Given the description of an element on the screen output the (x, y) to click on. 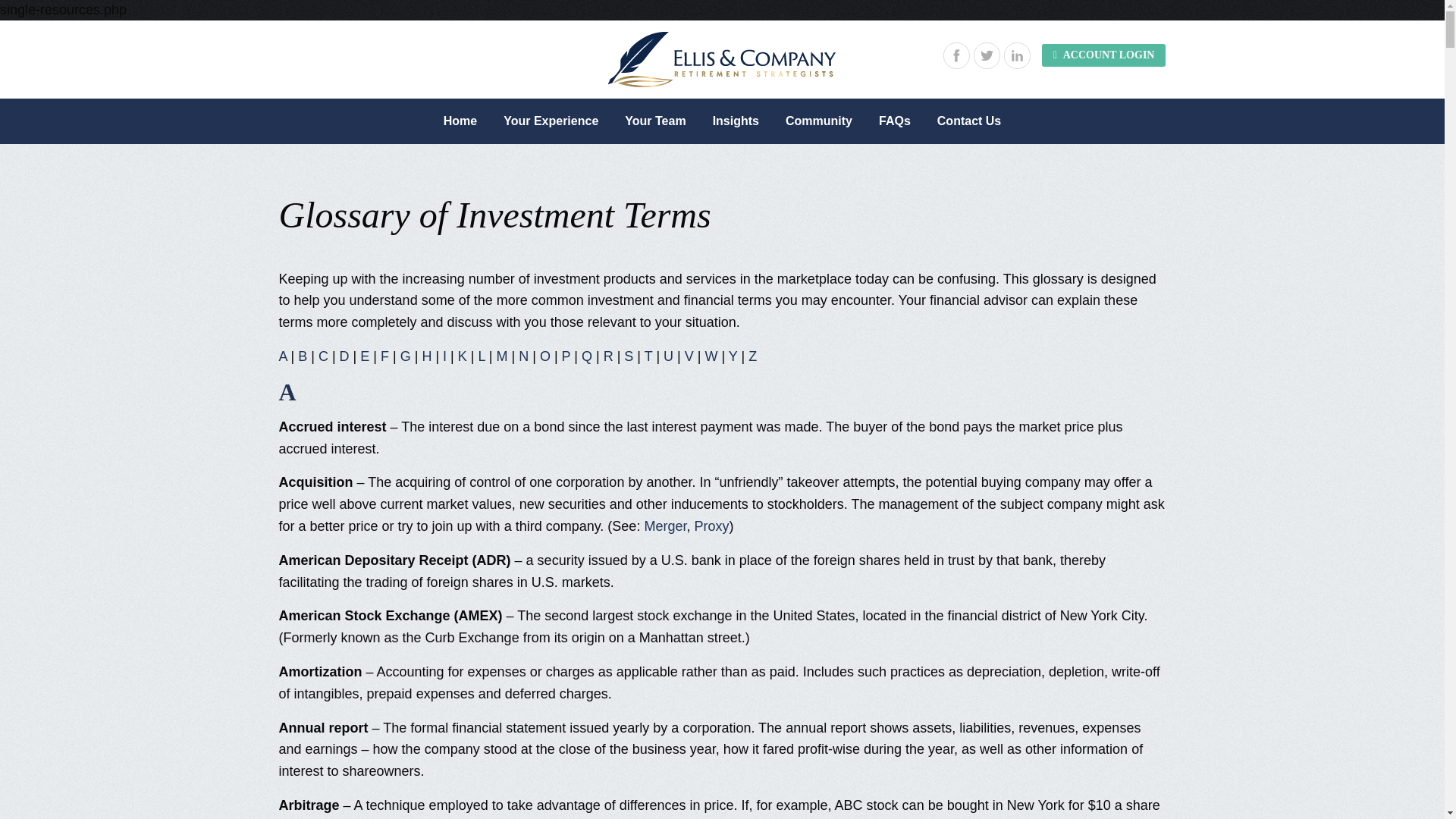
Your Team (654, 121)
Home (460, 121)
Your Experience (550, 121)
ACCOUNT LOGIN (1104, 55)
Insights (735, 121)
